Given the description of an element on the screen output the (x, y) to click on. 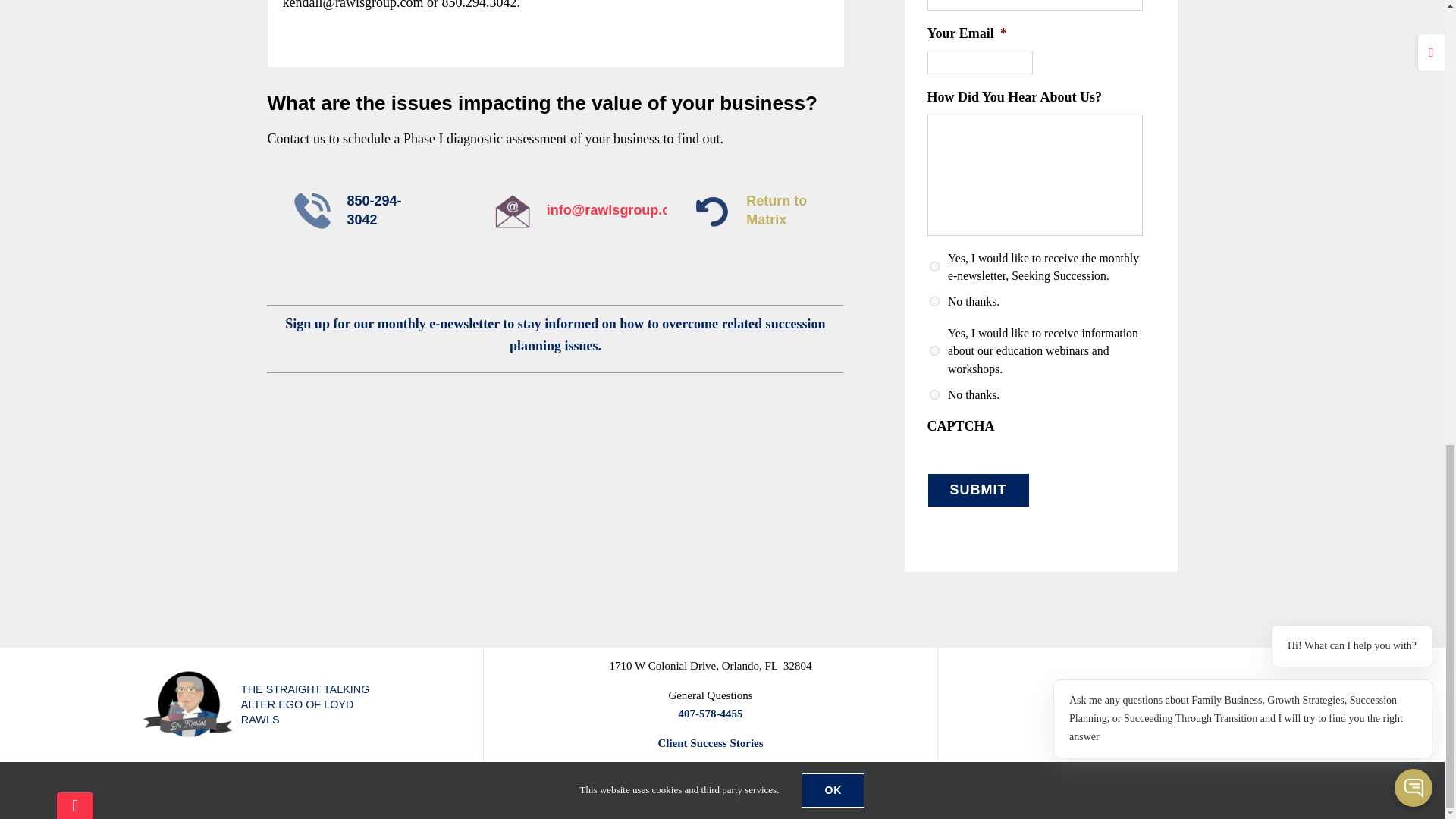
No thanks. (934, 301)
Submit (977, 489)
No thanks. (934, 394)
